Given the description of an element on the screen output the (x, y) to click on. 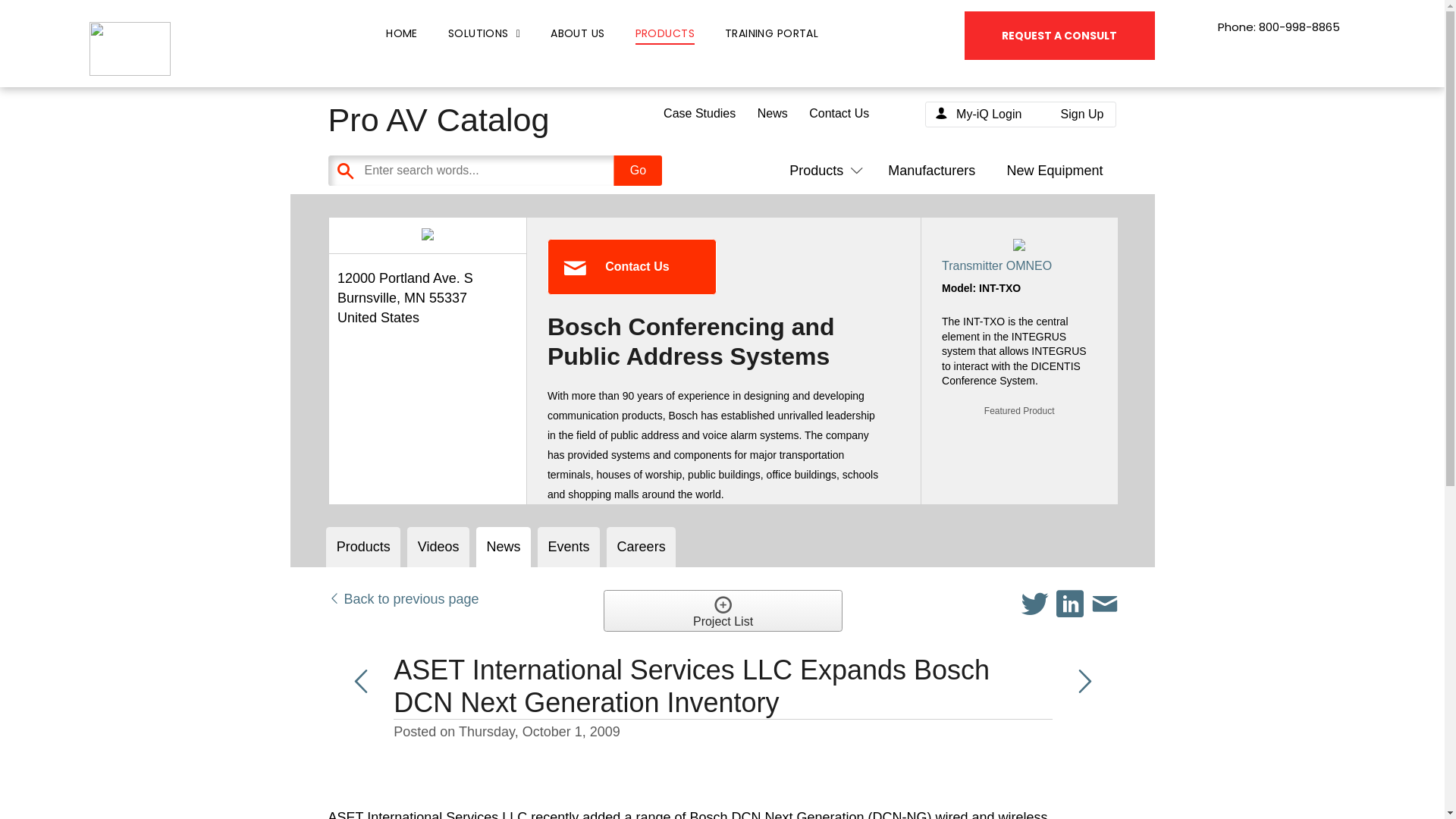
REQUEST A CONSULT (1058, 35)
SOLUTIONS (483, 33)
ABOUT US (577, 33)
Enter search words... (531, 170)
PRODUCTS (665, 33)
HOME (401, 33)
TRAINING PORTAL (771, 33)
Go (637, 170)
Go (637, 170)
